Given the description of an element on the screen output the (x, y) to click on. 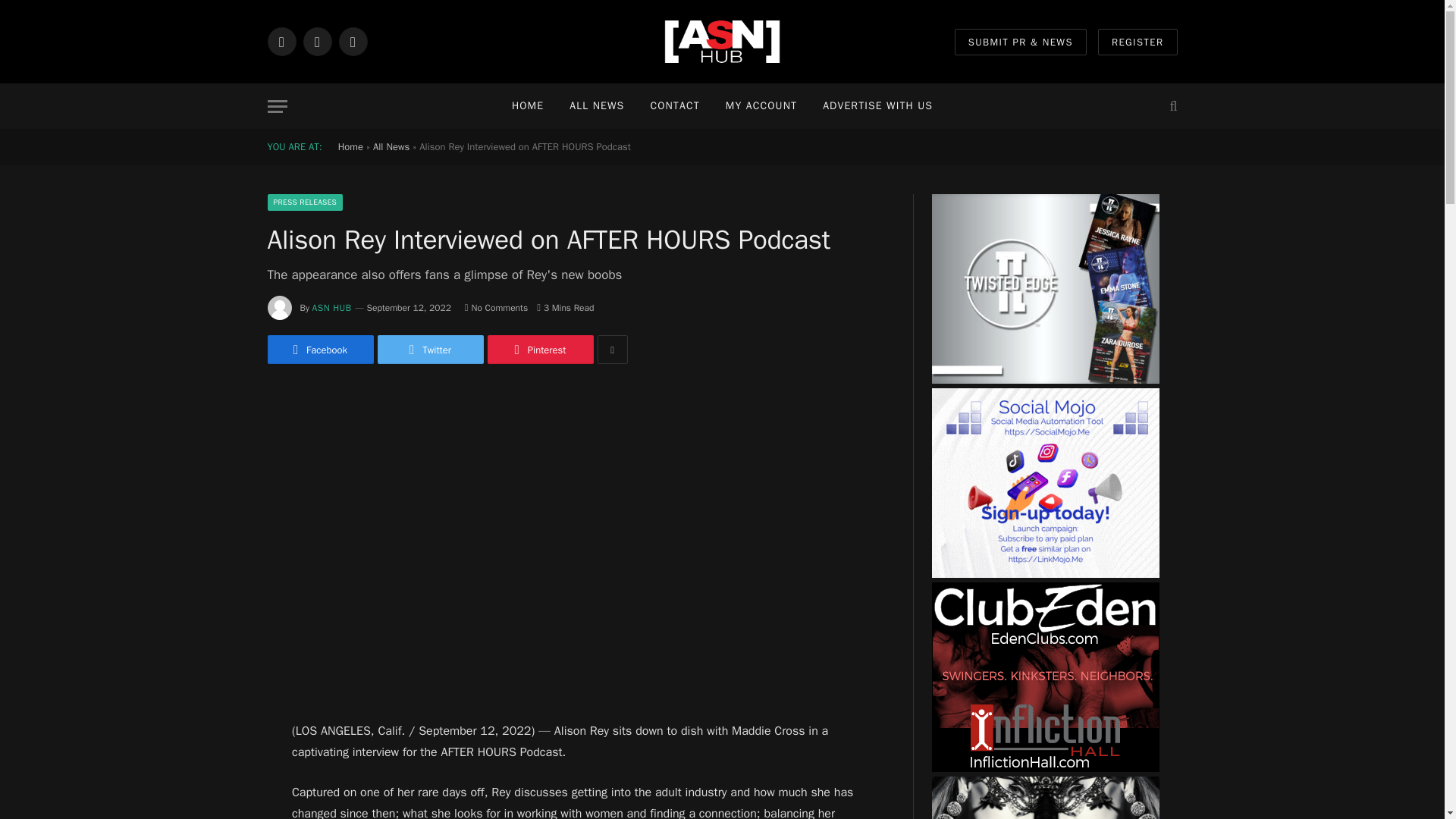
ASN HUB (332, 307)
No Comments (495, 307)
PRESS RELEASES (304, 202)
Twitter (430, 348)
Facebook (280, 41)
Instagram (351, 41)
ADVERTISE WITH US (876, 105)
MY ACCOUNT (761, 105)
Facebook (319, 348)
CONTACT (674, 105)
